Given the description of an element on the screen output the (x, y) to click on. 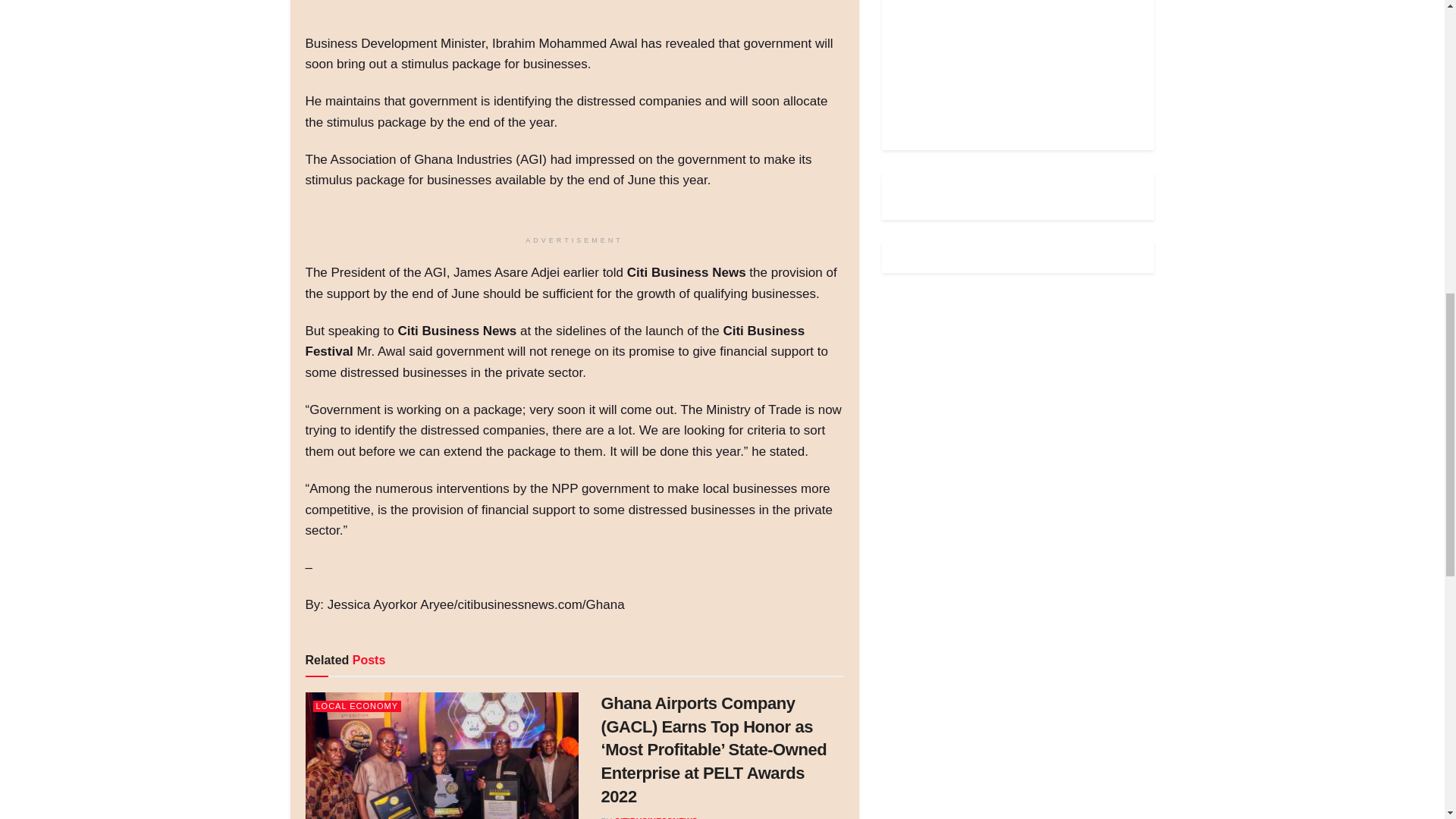
Advertisement (580, 13)
Advertisement (1010, 64)
